Given the description of an element on the screen output the (x, y) to click on. 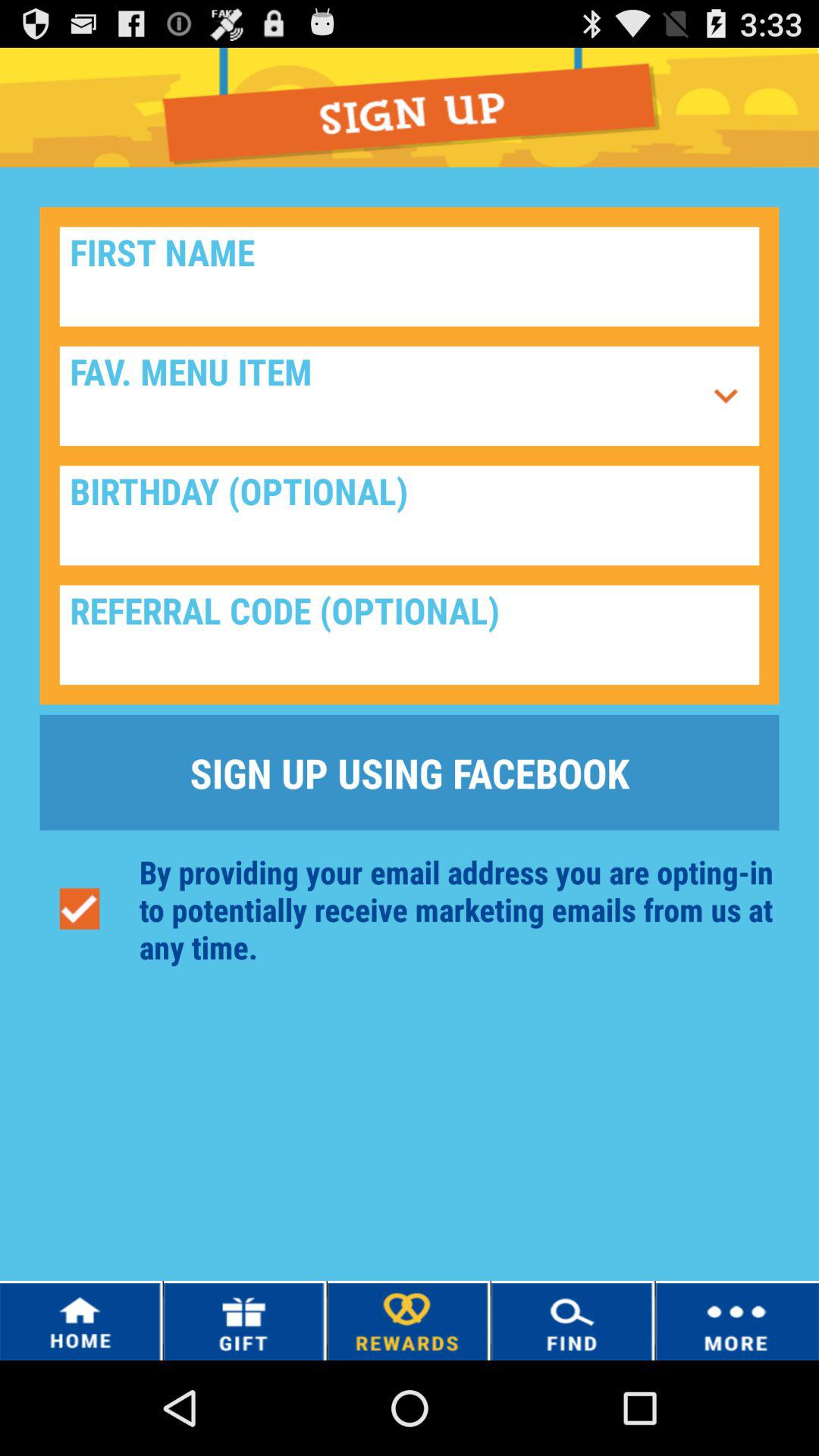
name input (409, 276)
